Given the description of an element on the screen output the (x, y) to click on. 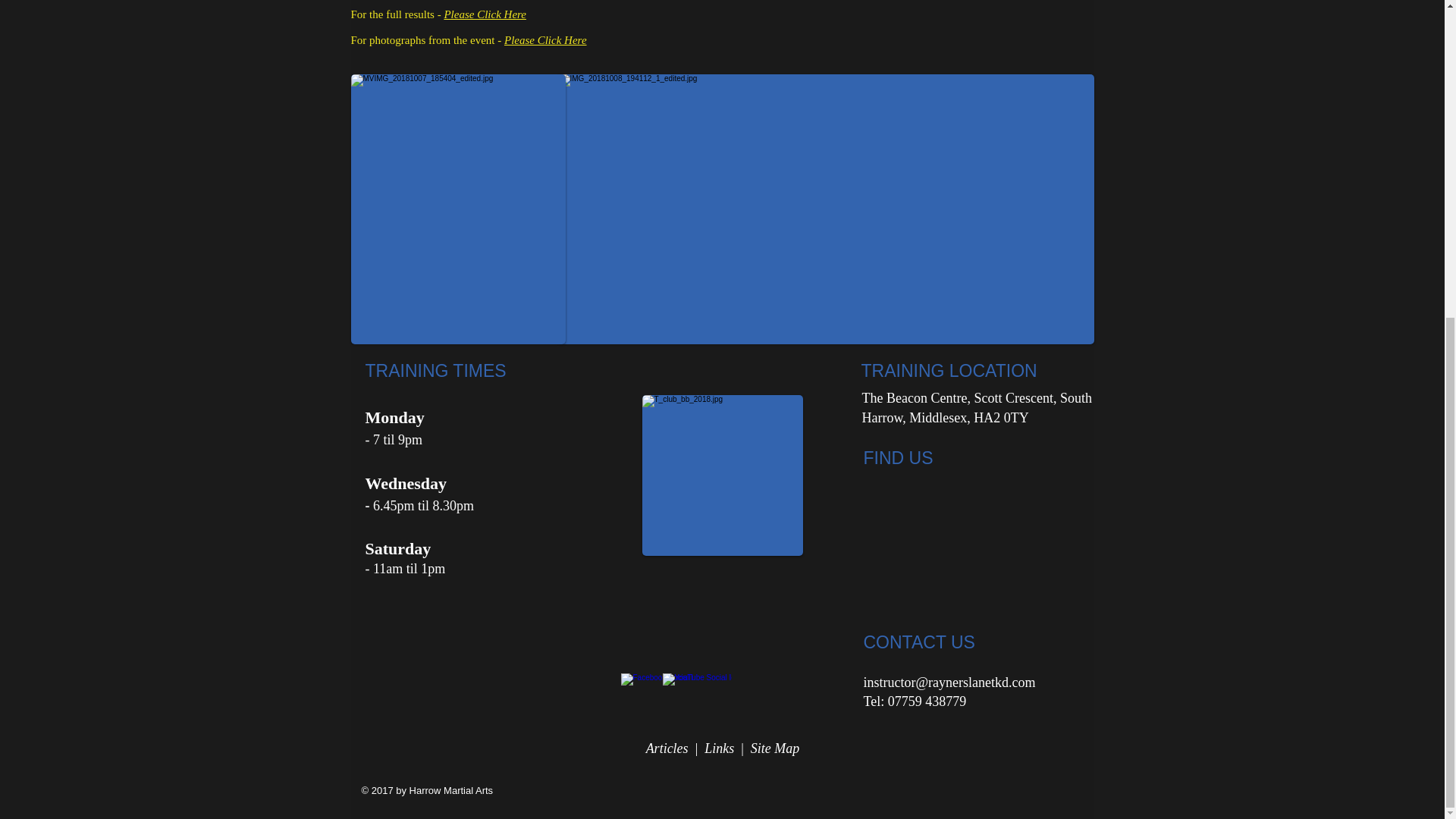
Please Click Here (484, 14)
Articles (667, 748)
Links (718, 748)
Please Click Here (544, 39)
